Given the description of an element on the screen output the (x, y) to click on. 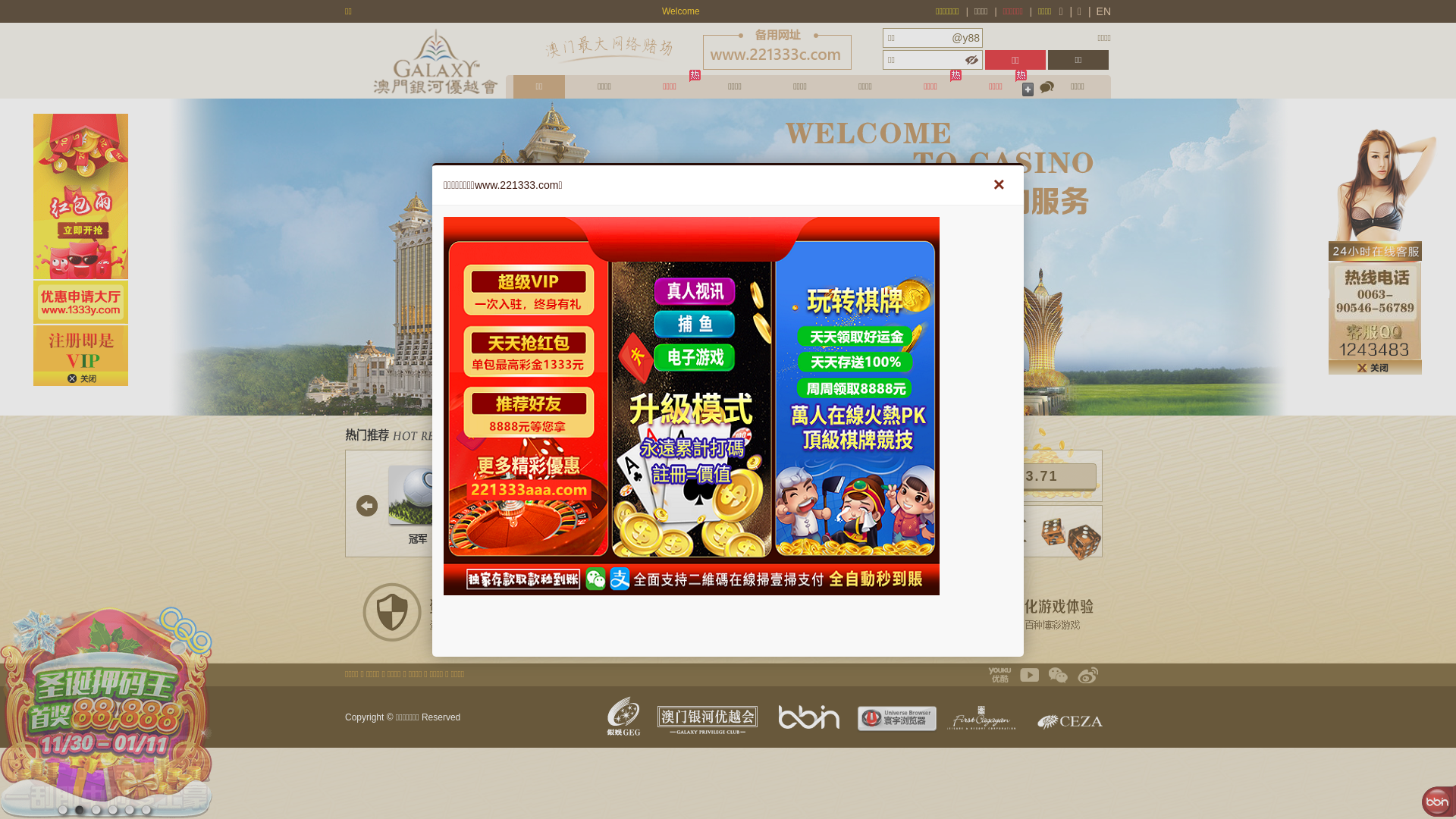
Welcome Element type: text (725, 11)
Welcome Element type: text (549, 11)
